Given the description of an element on the screen output the (x, y) to click on. 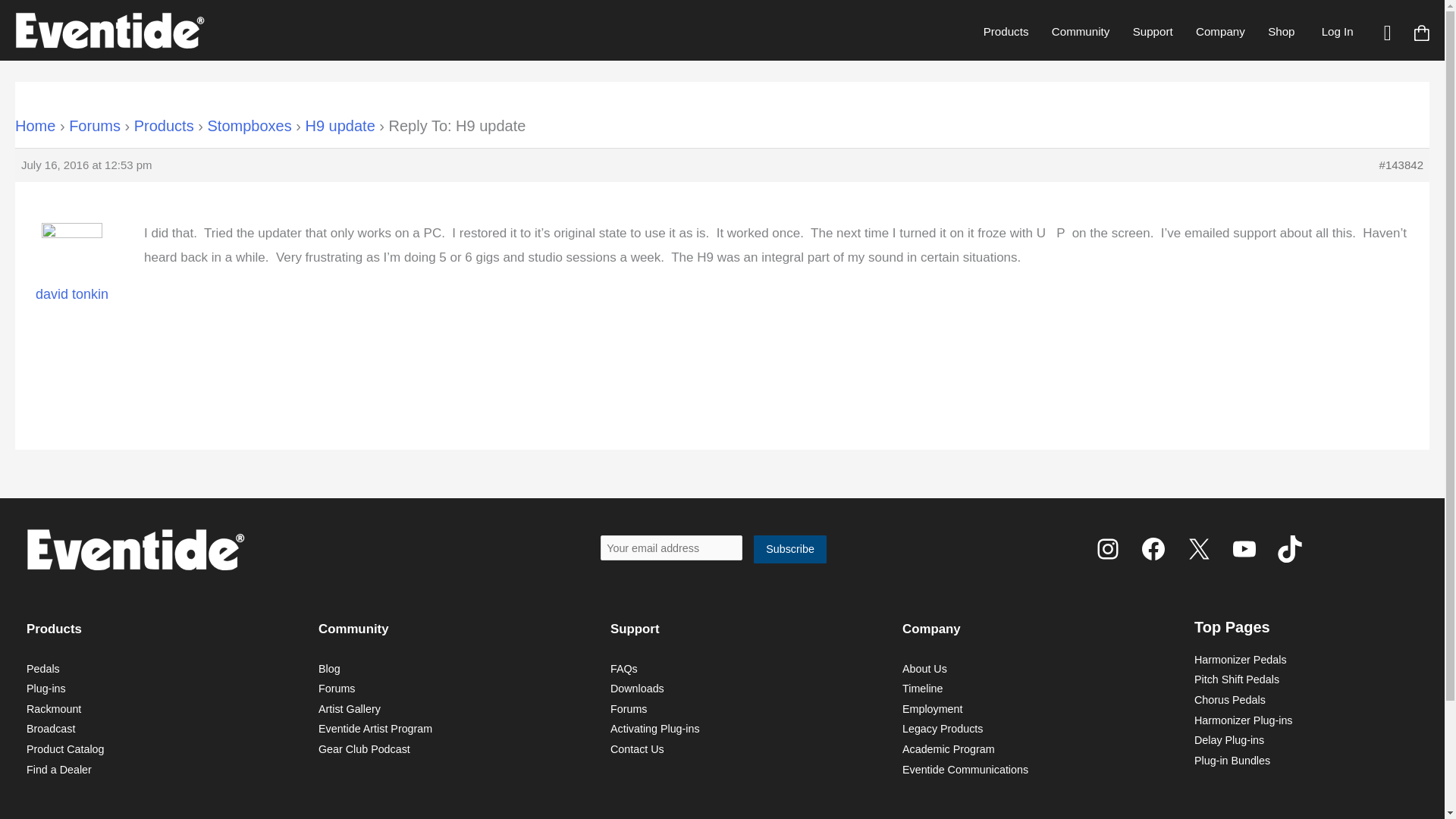
Support (1152, 31)
Community (1081, 31)
Log In (1337, 31)
Subscribe (790, 549)
Products (1006, 31)
Company (1220, 31)
Shop (1281, 31)
View david tonkin's profile (71, 273)
